Given the description of an element on the screen output the (x, y) to click on. 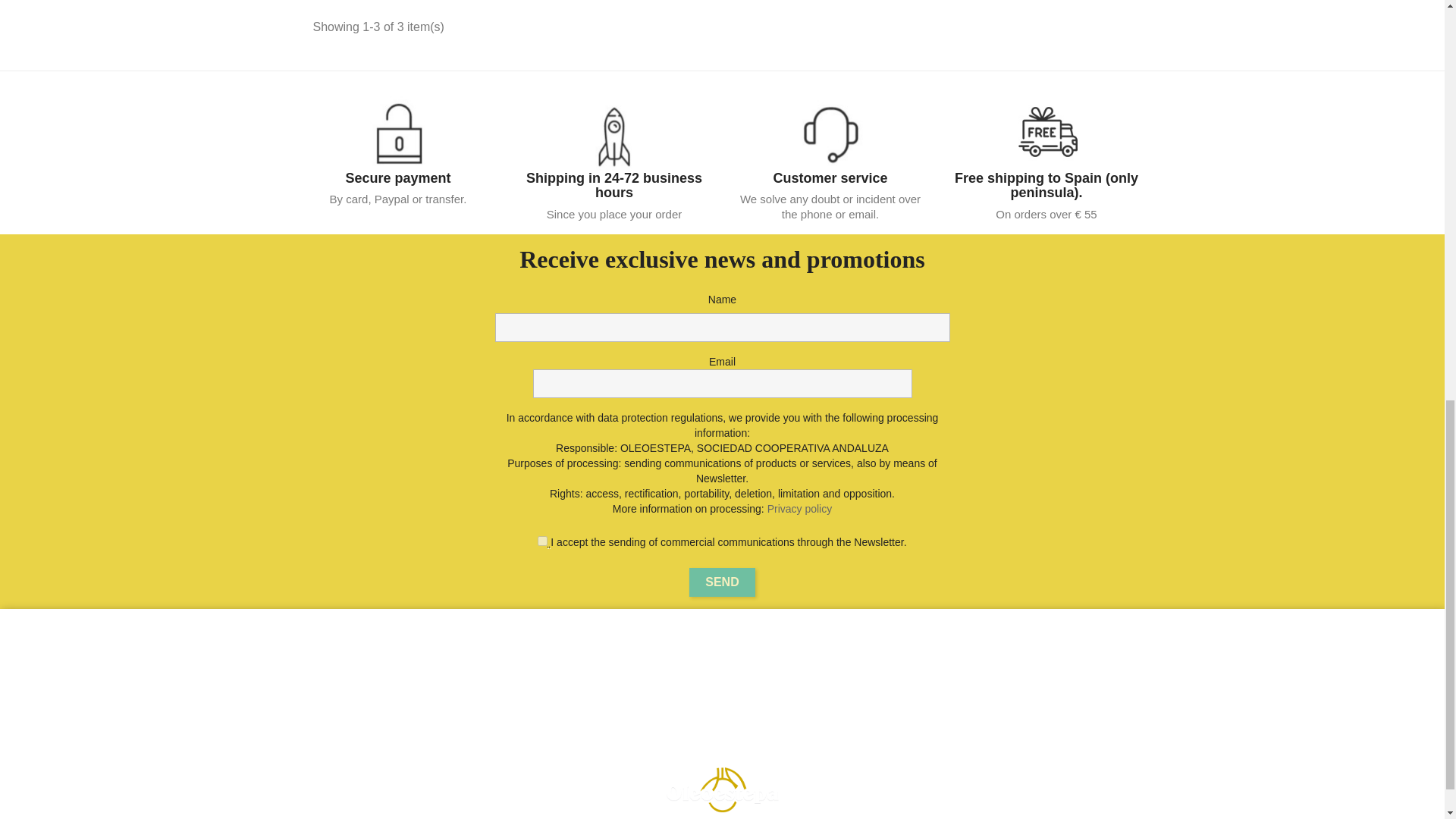
1 (542, 541)
Send (721, 582)
New products (549, 671)
Our special products (543, 652)
Best sales (541, 689)
